Given the description of an element on the screen output the (x, y) to click on. 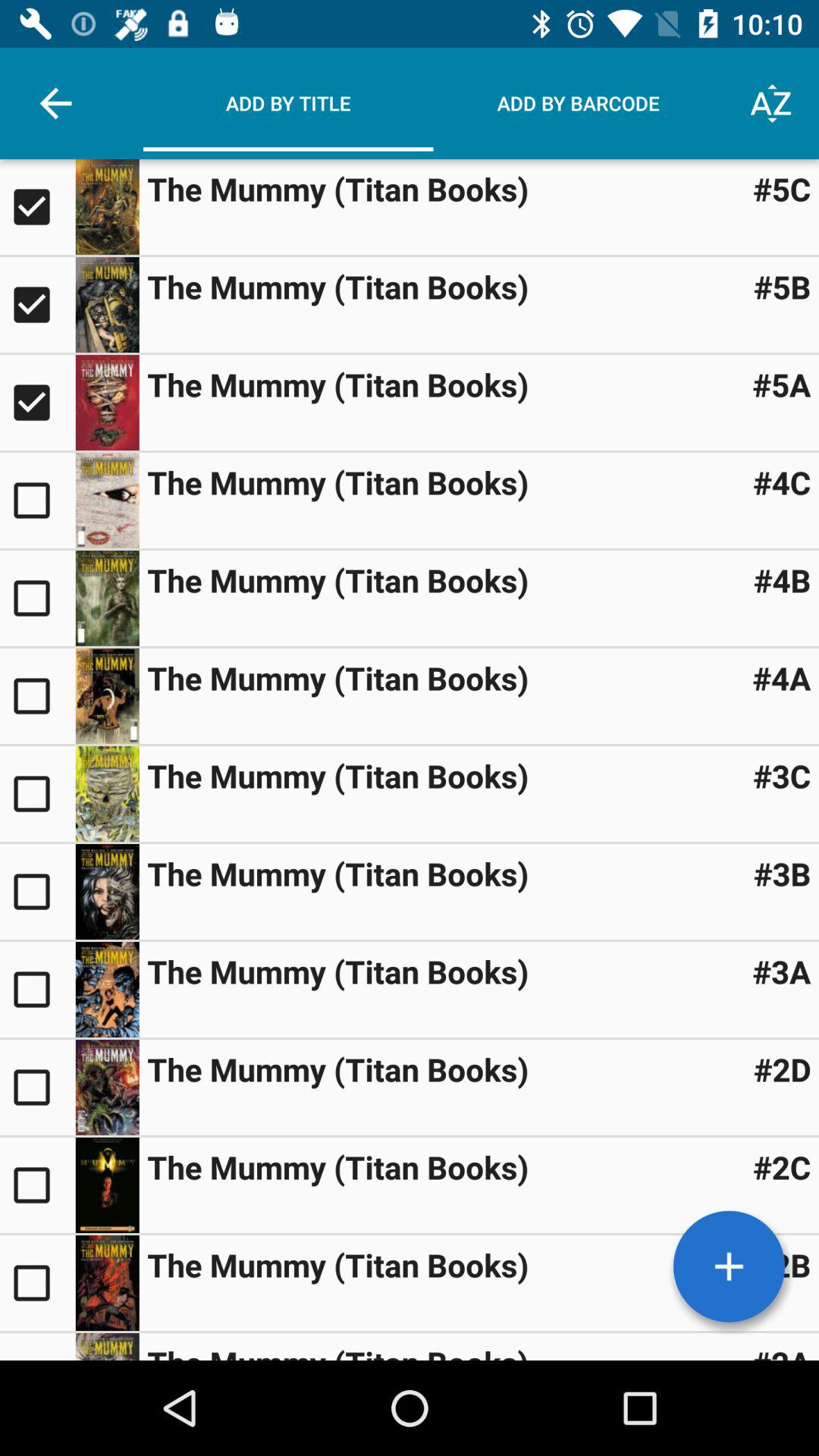
choose the item to the right of the mummy titan item (782, 775)
